Given the description of an element on the screen output the (x, y) to click on. 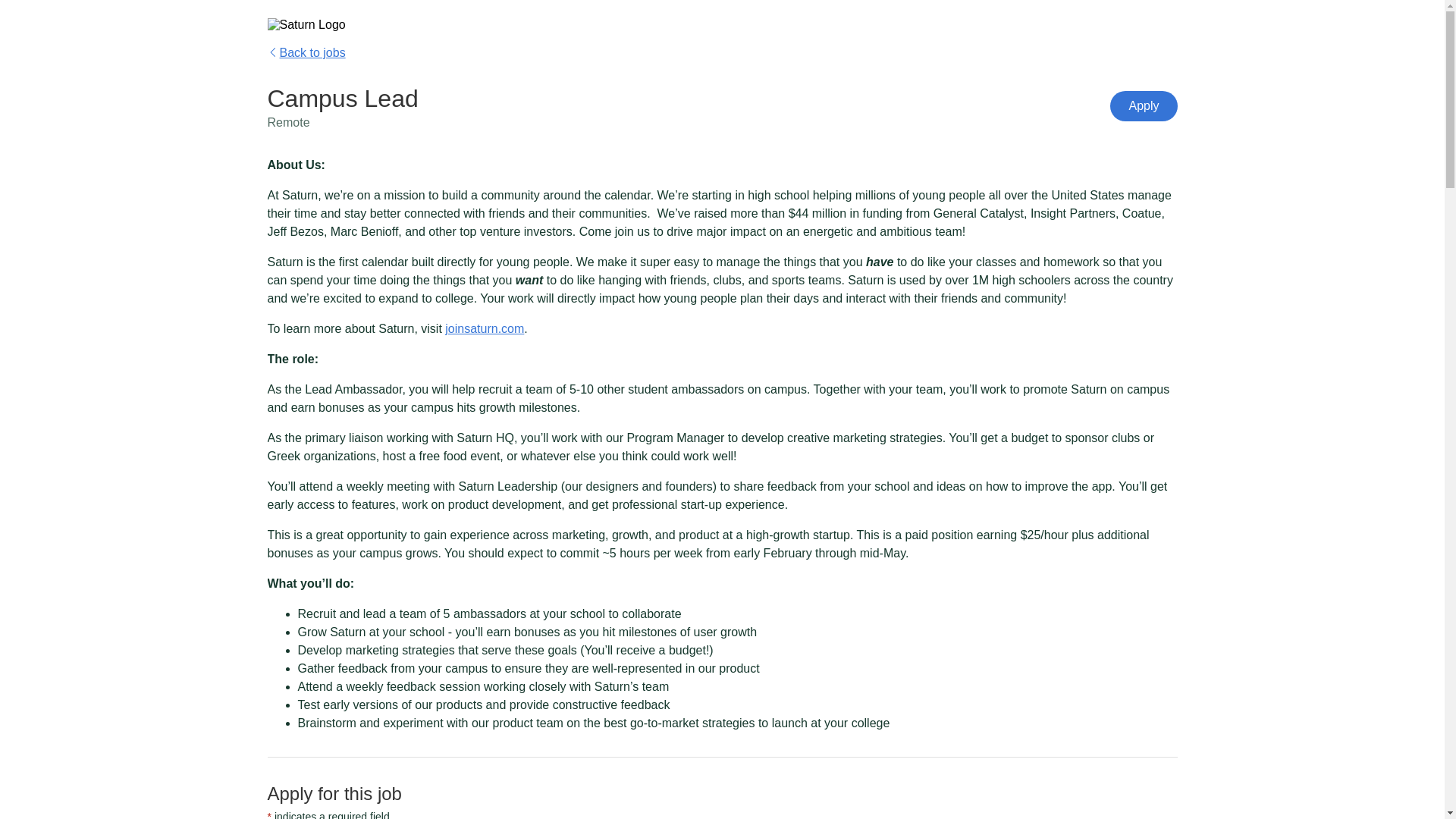
Back to jobs (305, 51)
joinsaturn.com (484, 328)
Apply (1142, 105)
